Given the description of an element on the screen output the (x, y) to click on. 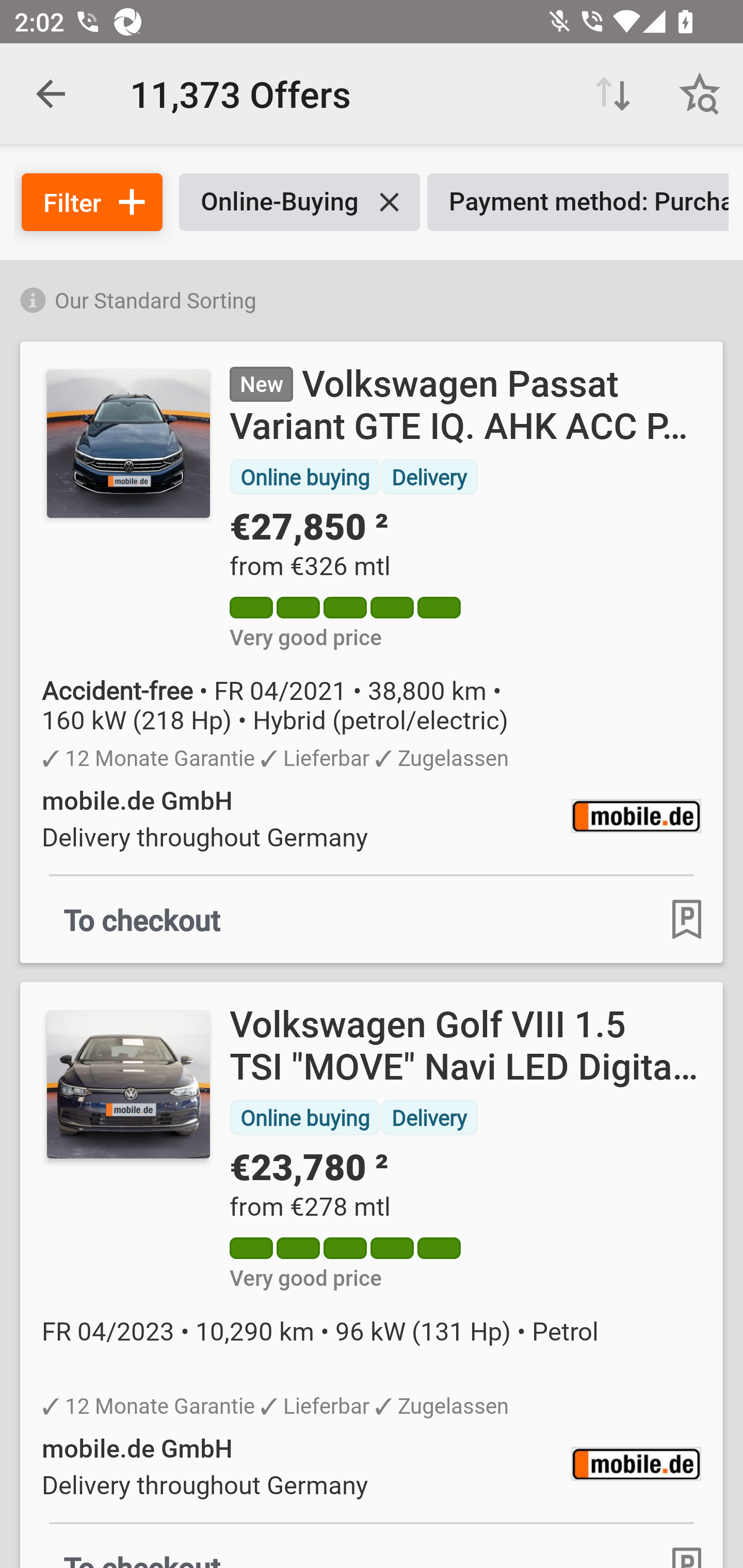
Navigate up (50, 93)
Sort options (612, 93)
Save search (699, 93)
Online-Buying Remove Online-Buying (299, 202)
Payment method: Purchase (577, 202)
Filter (91, 202)
Our Standard Sorting (371, 296)
To checkout (142, 919)
